Given the description of an element on the screen output the (x, y) to click on. 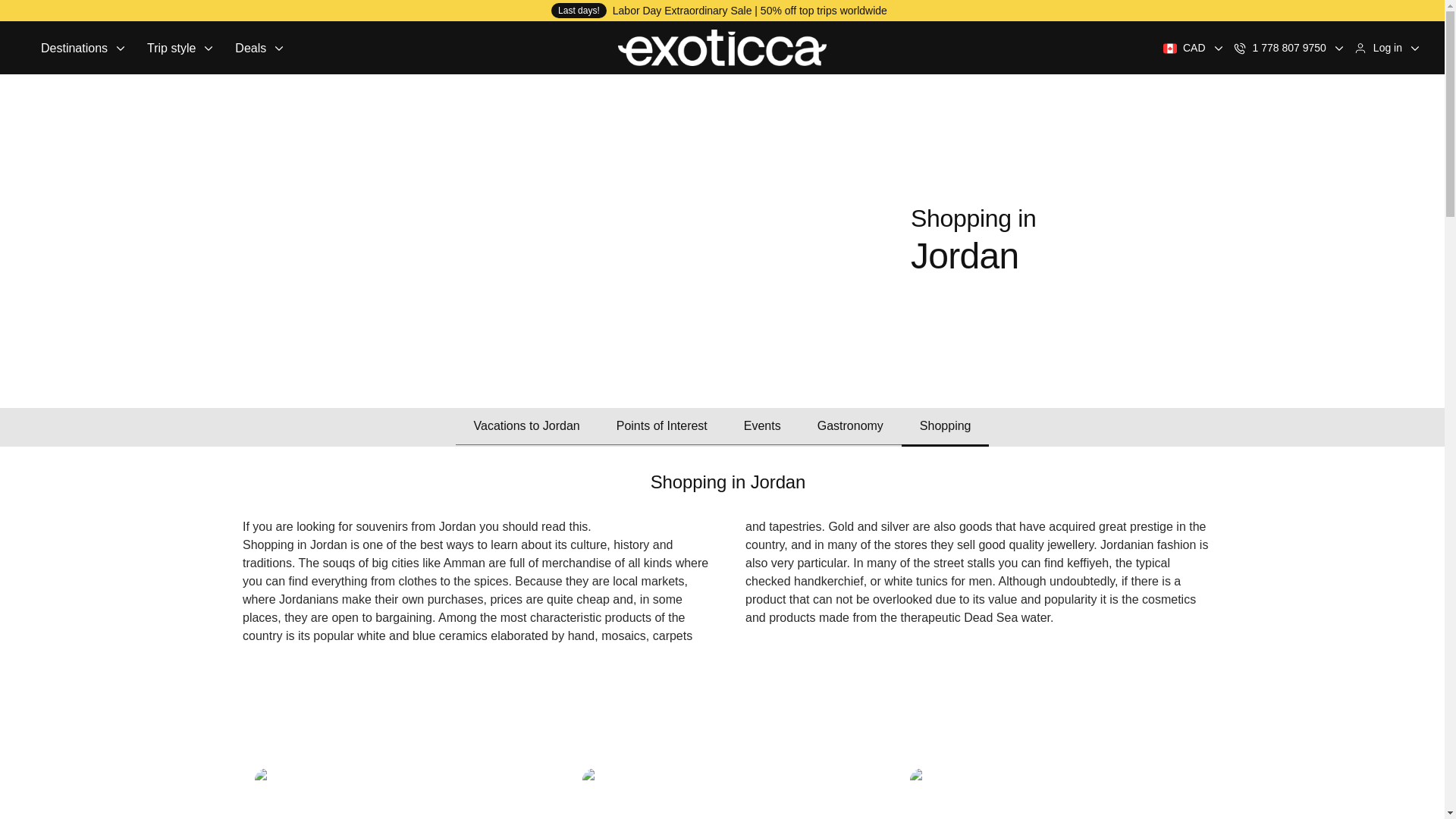
arrow-icon (1218, 47)
arrow-icon (1414, 47)
arrow-icon (208, 47)
arrow-icon (278, 47)
arrow-icon (120, 47)
arrow-icon (1338, 47)
